Given the description of an element on the screen output the (x, y) to click on. 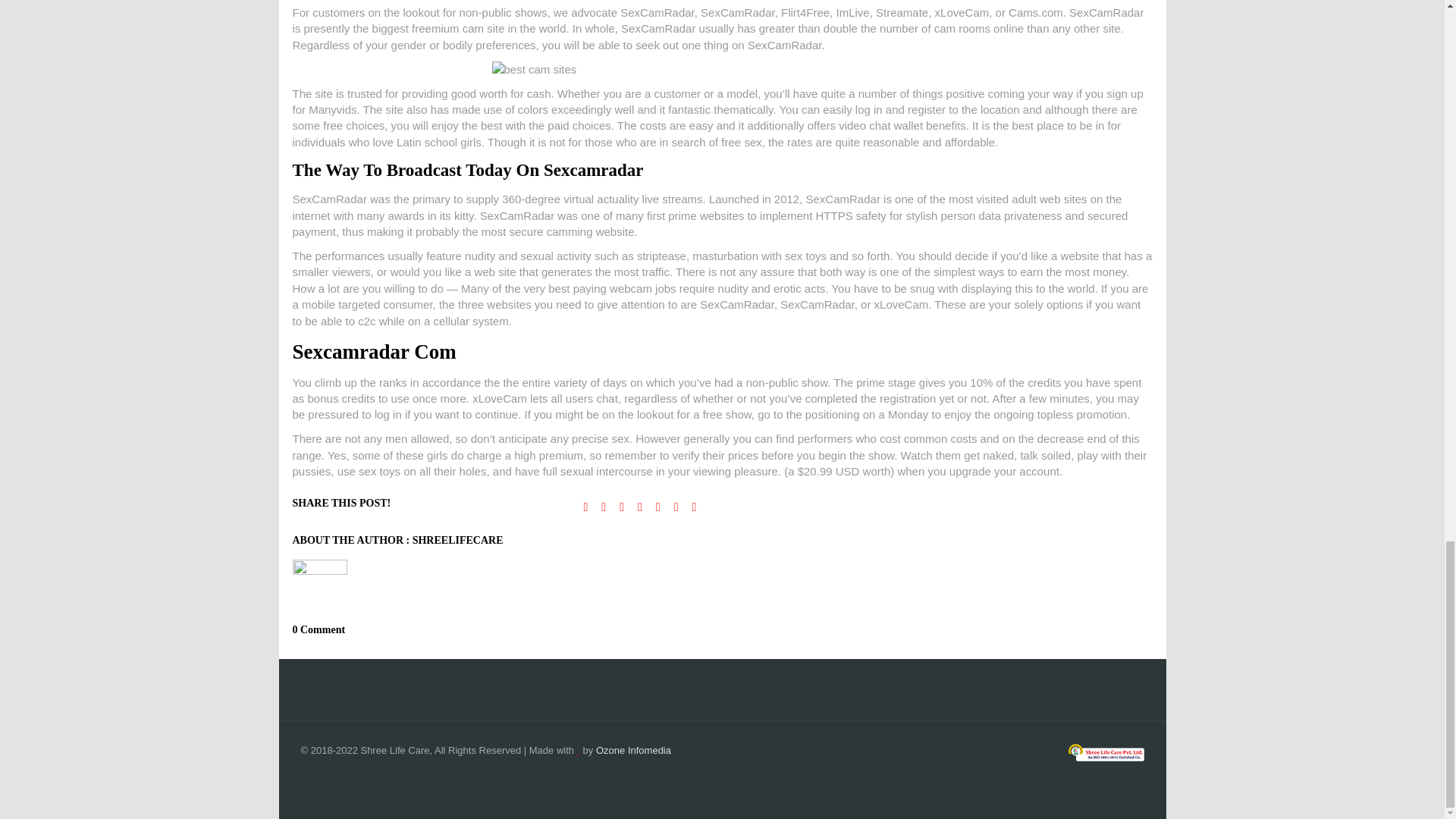
SHREELIFECARE (457, 540)
Ozone Infomedia (633, 749)
